Given the description of an element on the screen output the (x, y) to click on. 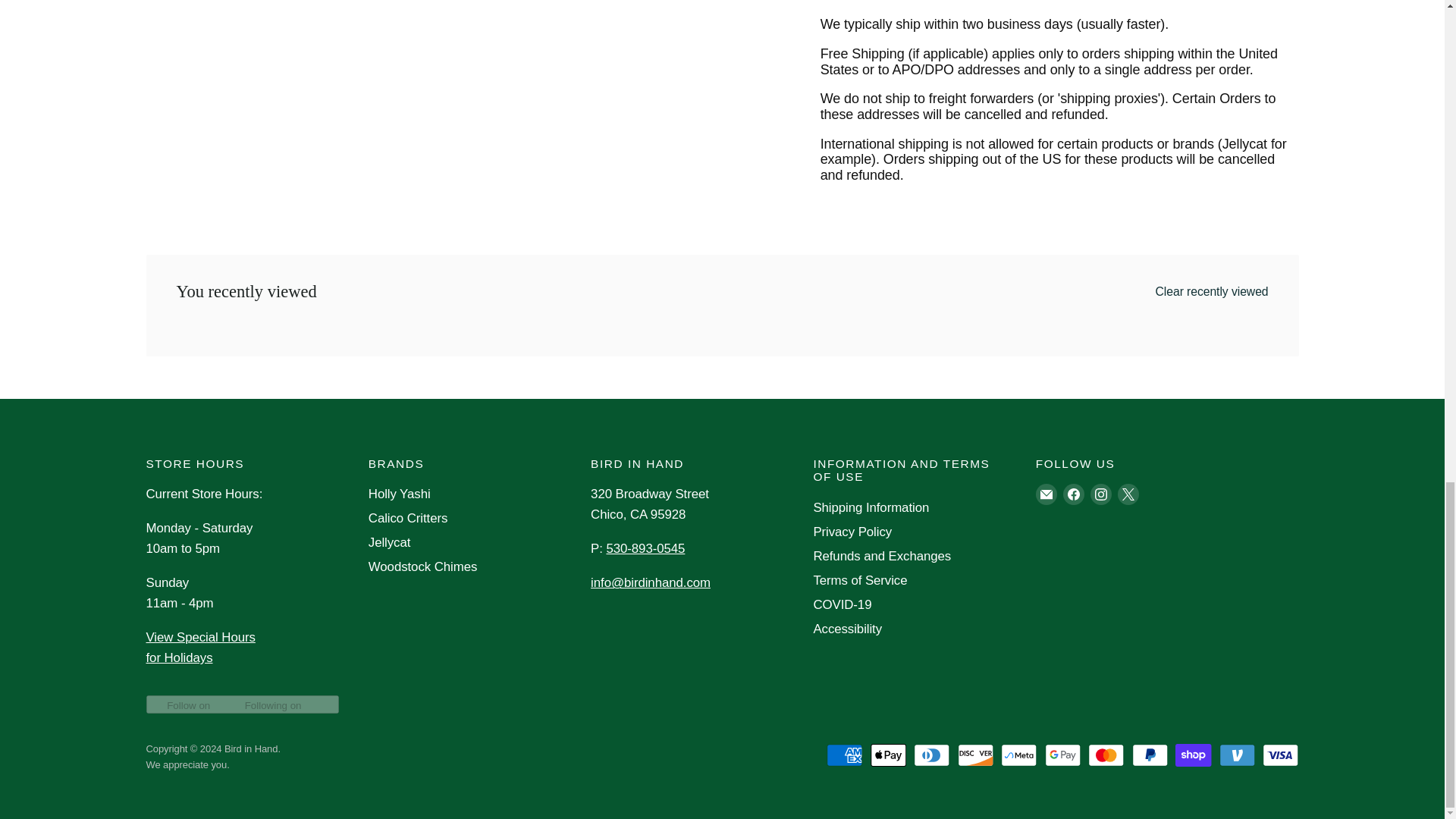
E-mail (1045, 493)
Instagram (1101, 493)
Call 530-893-0545 (644, 548)
X (1128, 493)
Facebook (1073, 493)
Seasonal and Holiday Store Hours (199, 647)
